Given the description of an element on the screen output the (x, y) to click on. 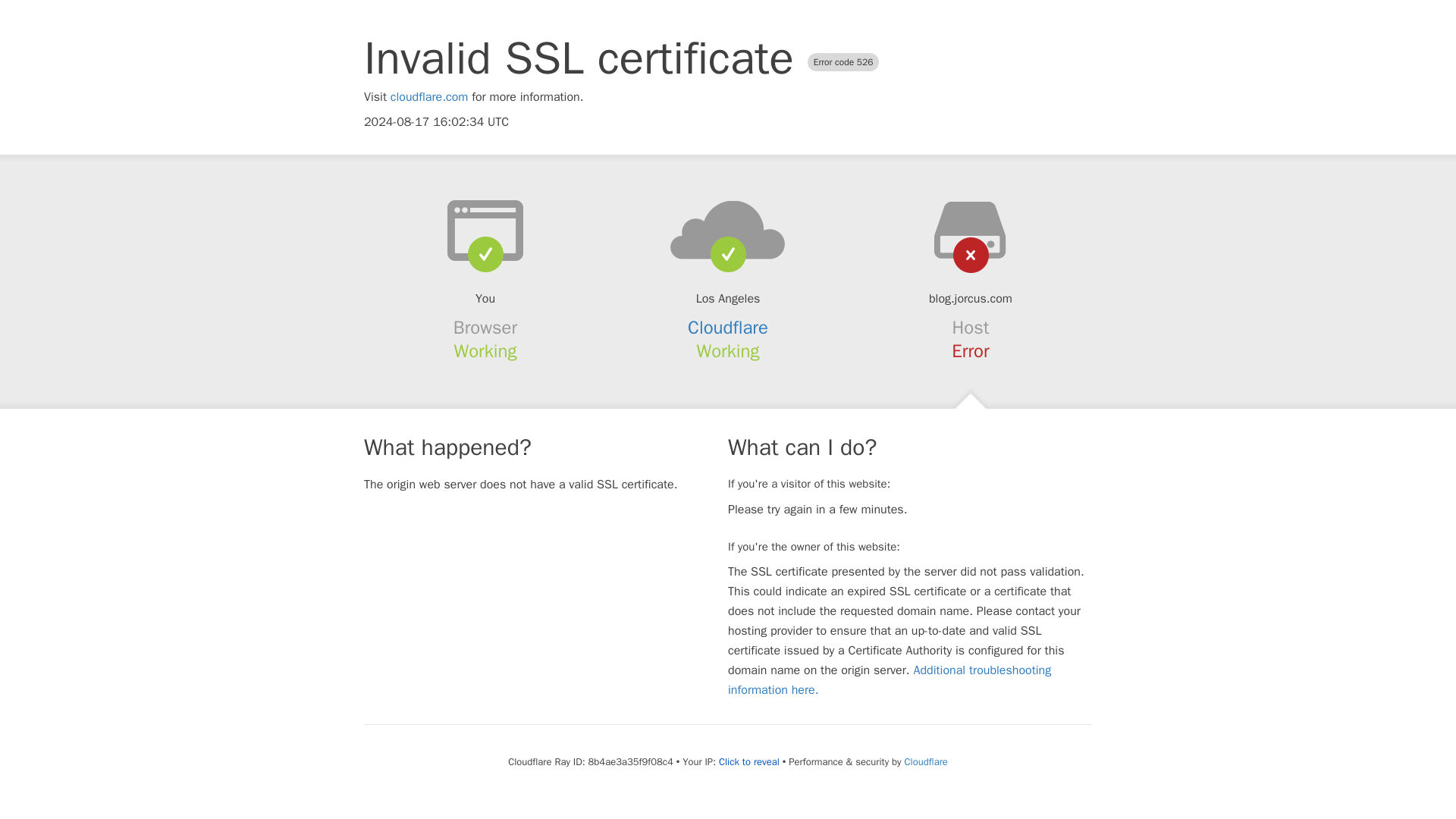
Cloudflare (925, 761)
Additional troubleshooting information here. (889, 679)
Click to reveal (748, 762)
Cloudflare (727, 327)
cloudflare.com (429, 96)
